Given the description of an element on the screen output the (x, y) to click on. 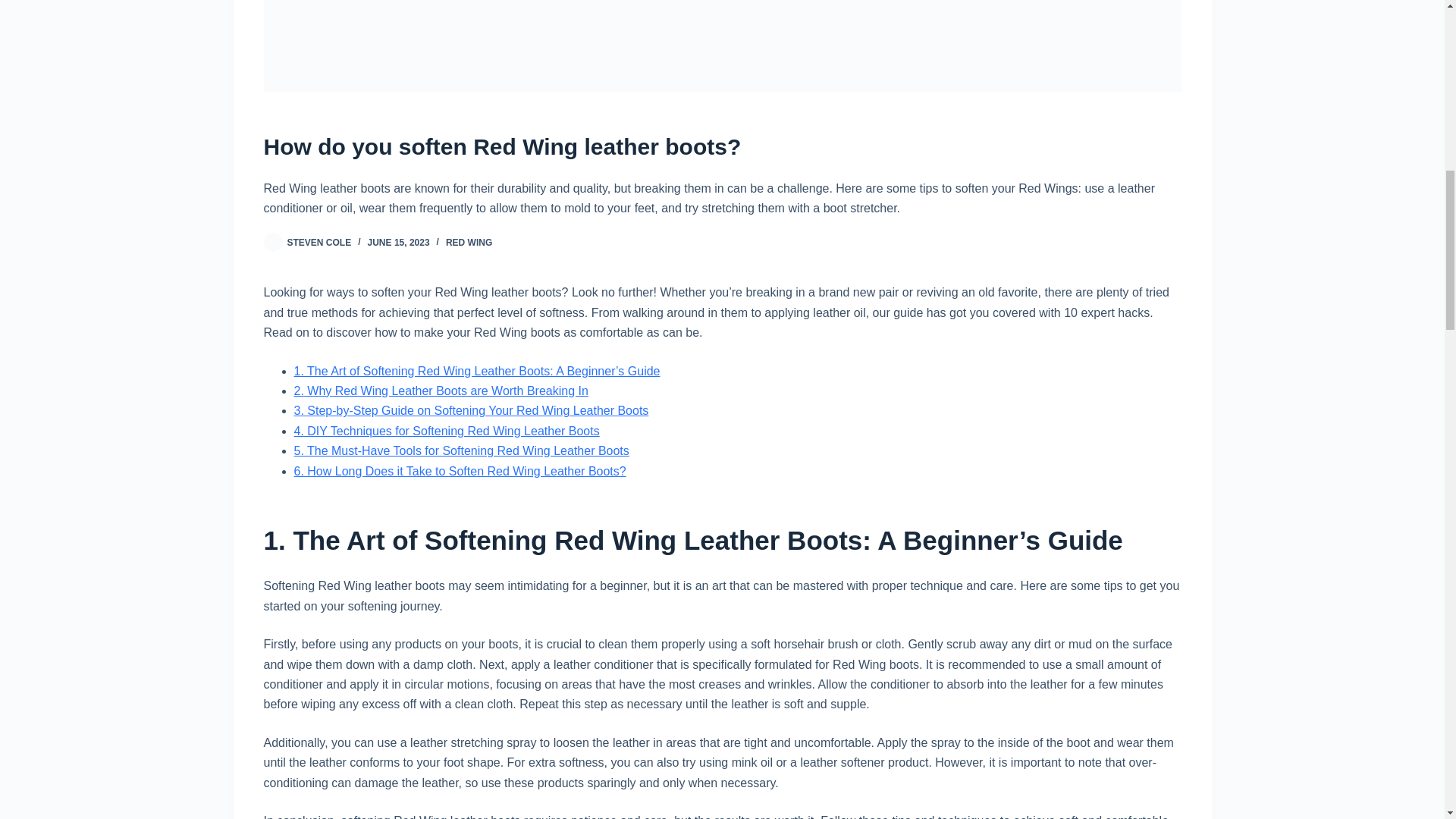
STEVEN COLE (318, 242)
4. DIY Techniques for Softening Red Wing Leather Boots (446, 431)
Posts by Steven Cole (318, 242)
RED WING (468, 242)
2. Why Red Wing Leather Boots are Worth Breaking In (441, 390)
6. How Long Does it Take to Soften Red Wing Leather Boots? (460, 471)
How do you soften Red Wing leather boots? (721, 146)
5. The Must-Have Tools for Softening Red Wing Leather Boots (461, 450)
